Given the description of an element on the screen output the (x, y) to click on. 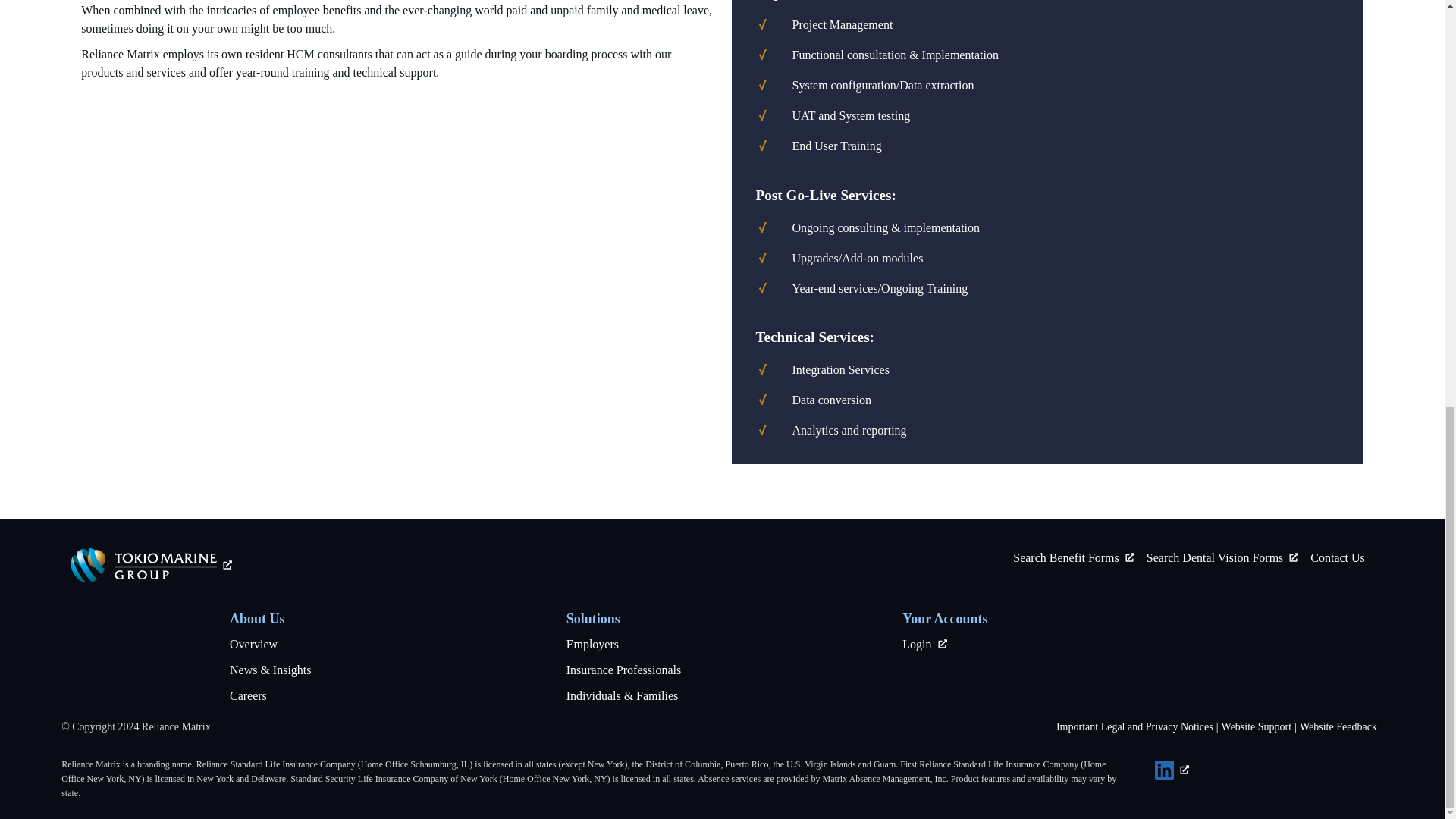
Login (924, 644)
Overview (254, 644)
Employers (592, 644)
Website Support (1256, 726)
Website Feedback (1338, 726)
Important Legal and Privacy Notices (1134, 726)
Contact Us (1337, 557)
Careers (248, 695)
Search Benefit Forms (1073, 557)
Insurance Professionals (623, 669)
